Given the description of an element on the screen output the (x, y) to click on. 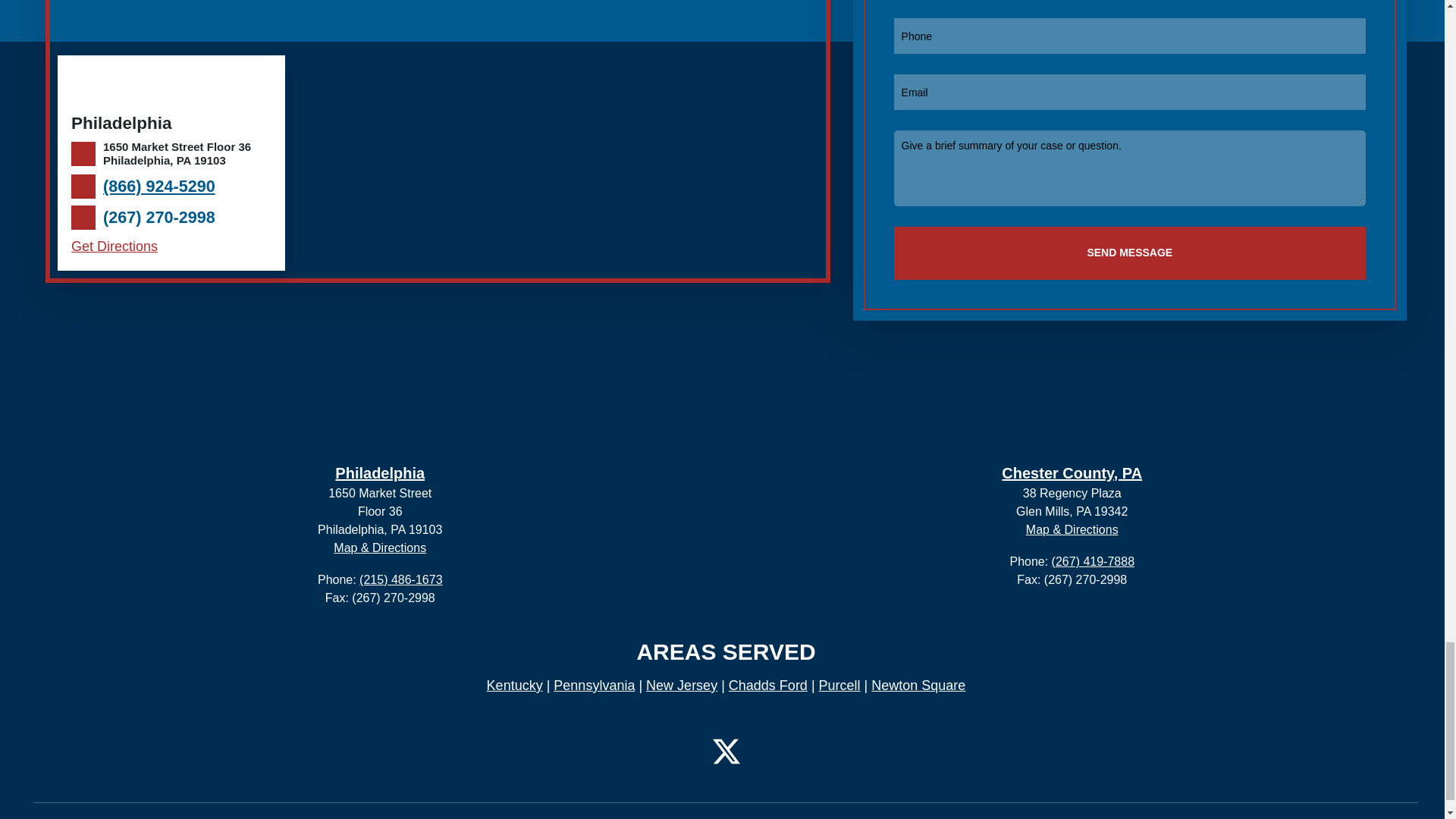
SEND MESSAGE (1129, 253)
